Given the description of an element on the screen output the (x, y) to click on. 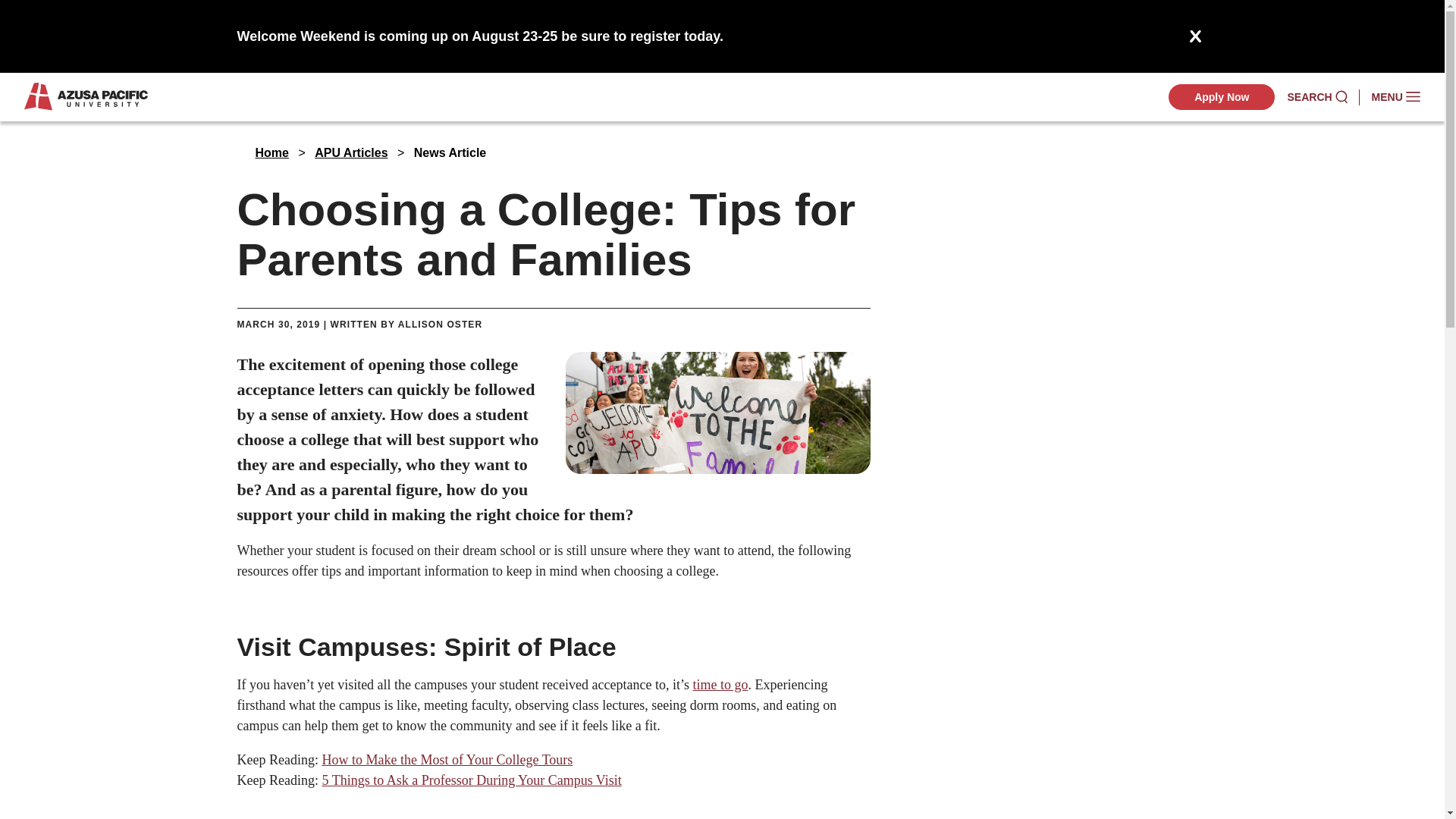
Skip to main content (722, 22)
Apply Now (1222, 96)
MENU (1396, 97)
SEARCH (1316, 97)
